Given the description of an element on the screen output the (x, y) to click on. 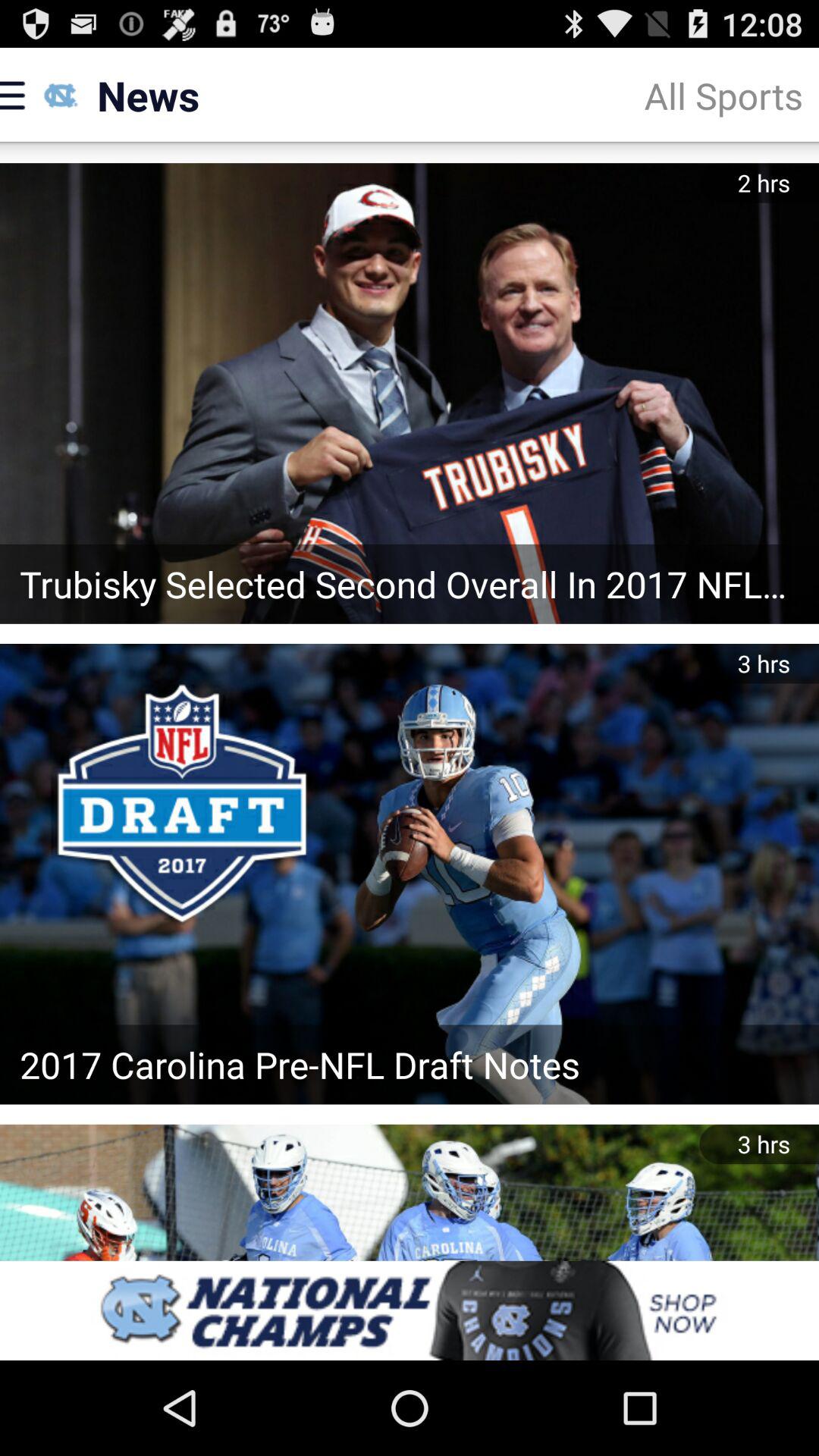
advertisement (409, 1310)
